Given the description of an element on the screen output the (x, y) to click on. 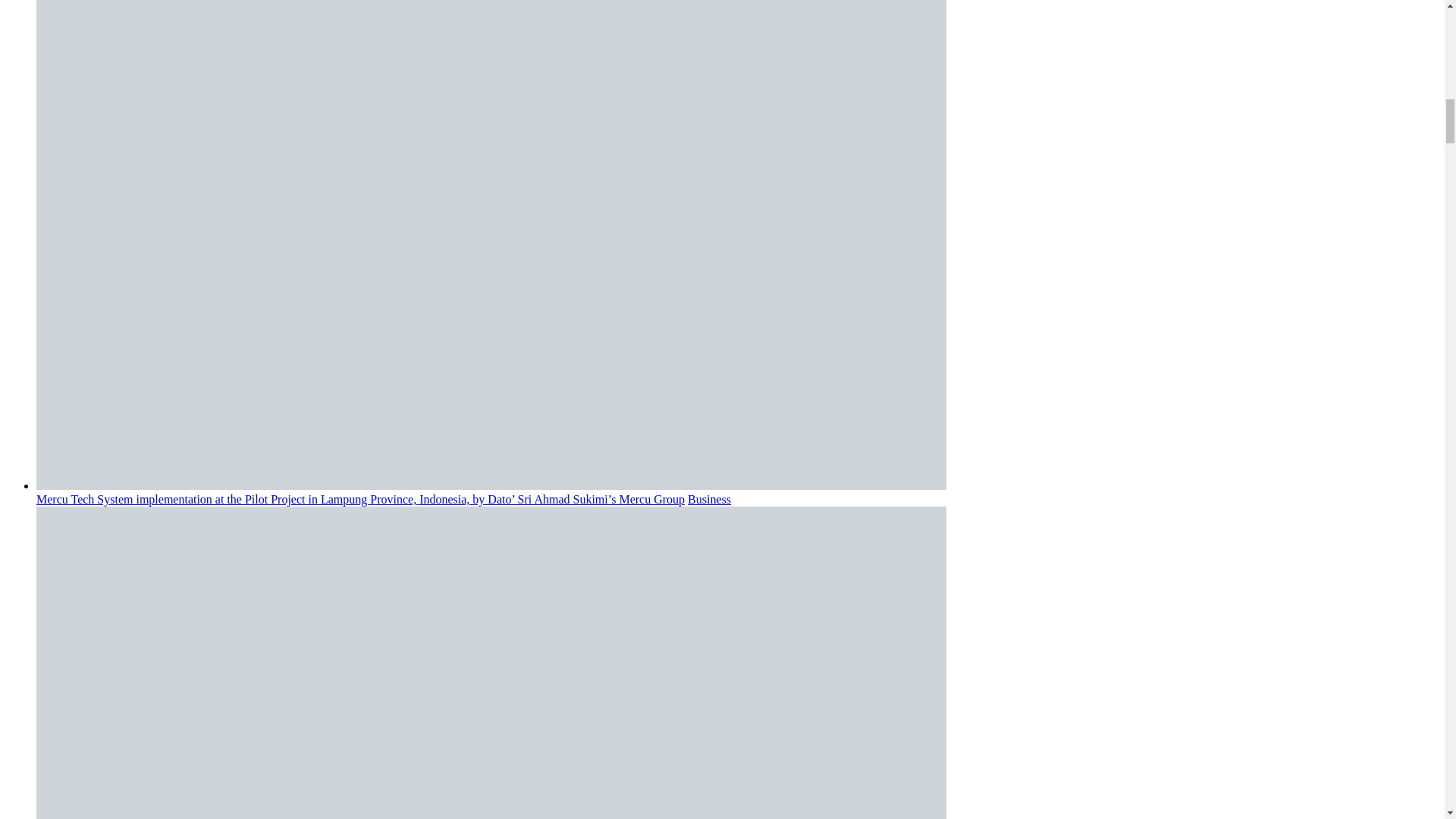
Business (708, 499)
